Given the description of an element on the screen output the (x, y) to click on. 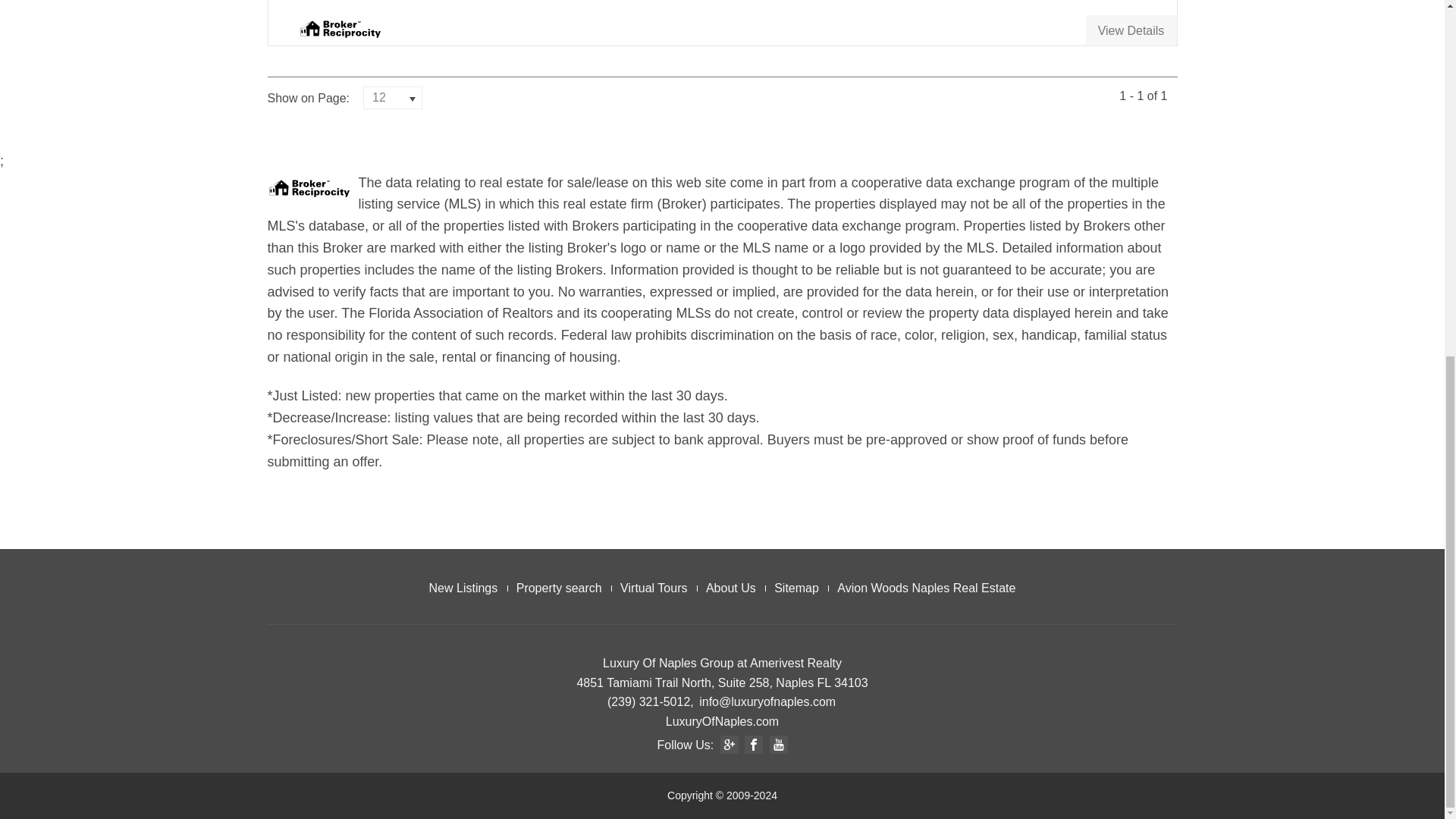
Scroll Top (1410, 212)
